Given the description of an element on the screen output the (x, y) to click on. 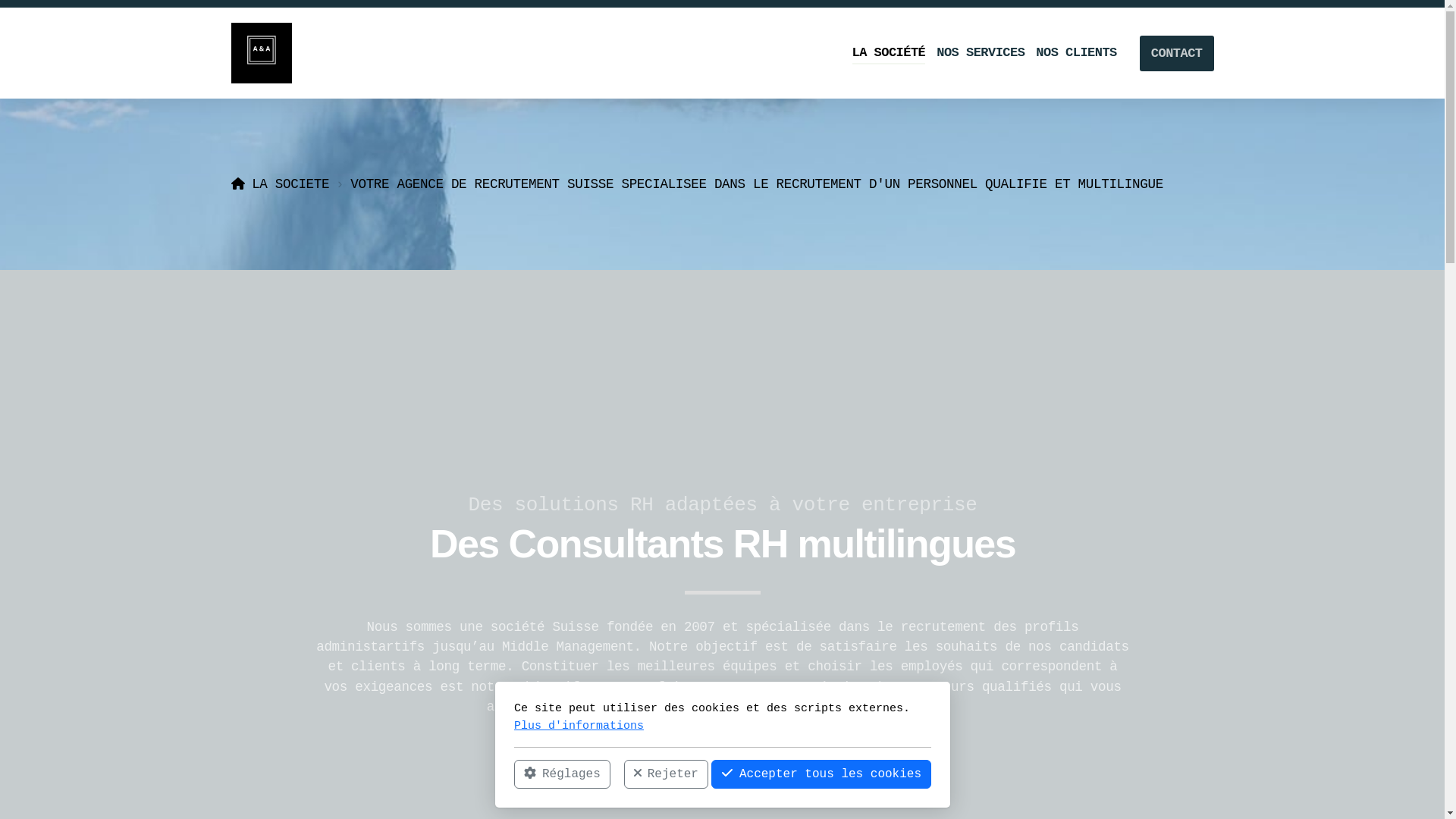
CONTACT Element type: text (1176, 52)
NOS CLIENTS Element type: text (1075, 53)
NOS SERVICES Element type: text (980, 53)
LA SOCIETE Element type: text (279, 183)
Plus d'informations Element type: text (578, 724)
Rejeter Element type: text (665, 773)
Accepter tous les cookies Element type: text (820, 773)
